Given the description of an element on the screen output the (x, y) to click on. 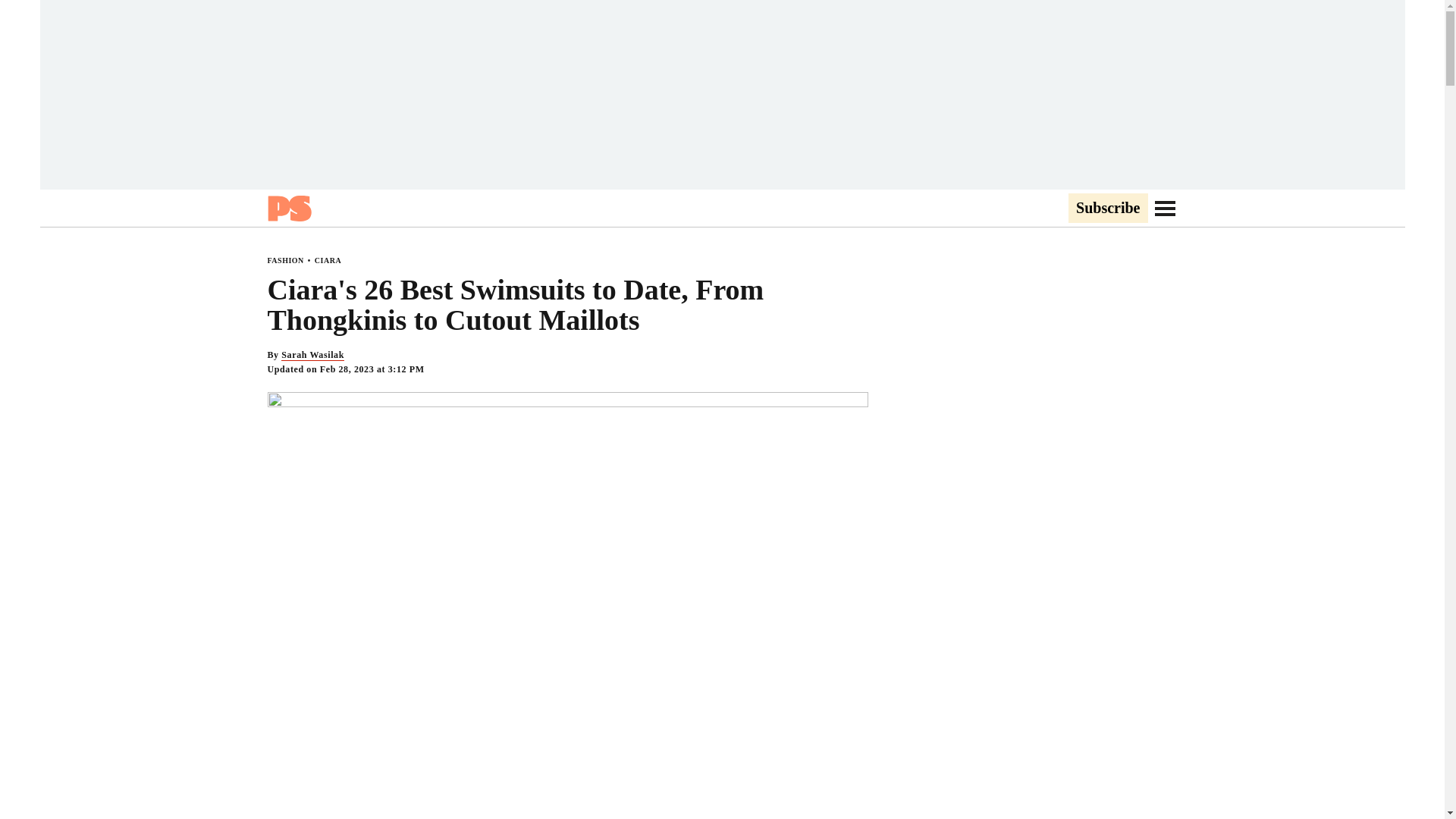
FASHION (284, 260)
Go to Navigation (1164, 207)
Sarah Wasilak (312, 355)
Go to Navigation (1164, 207)
Popsugar (288, 208)
CIARA (327, 260)
Subscribe (1107, 208)
